Given the description of an element on the screen output the (x, y) to click on. 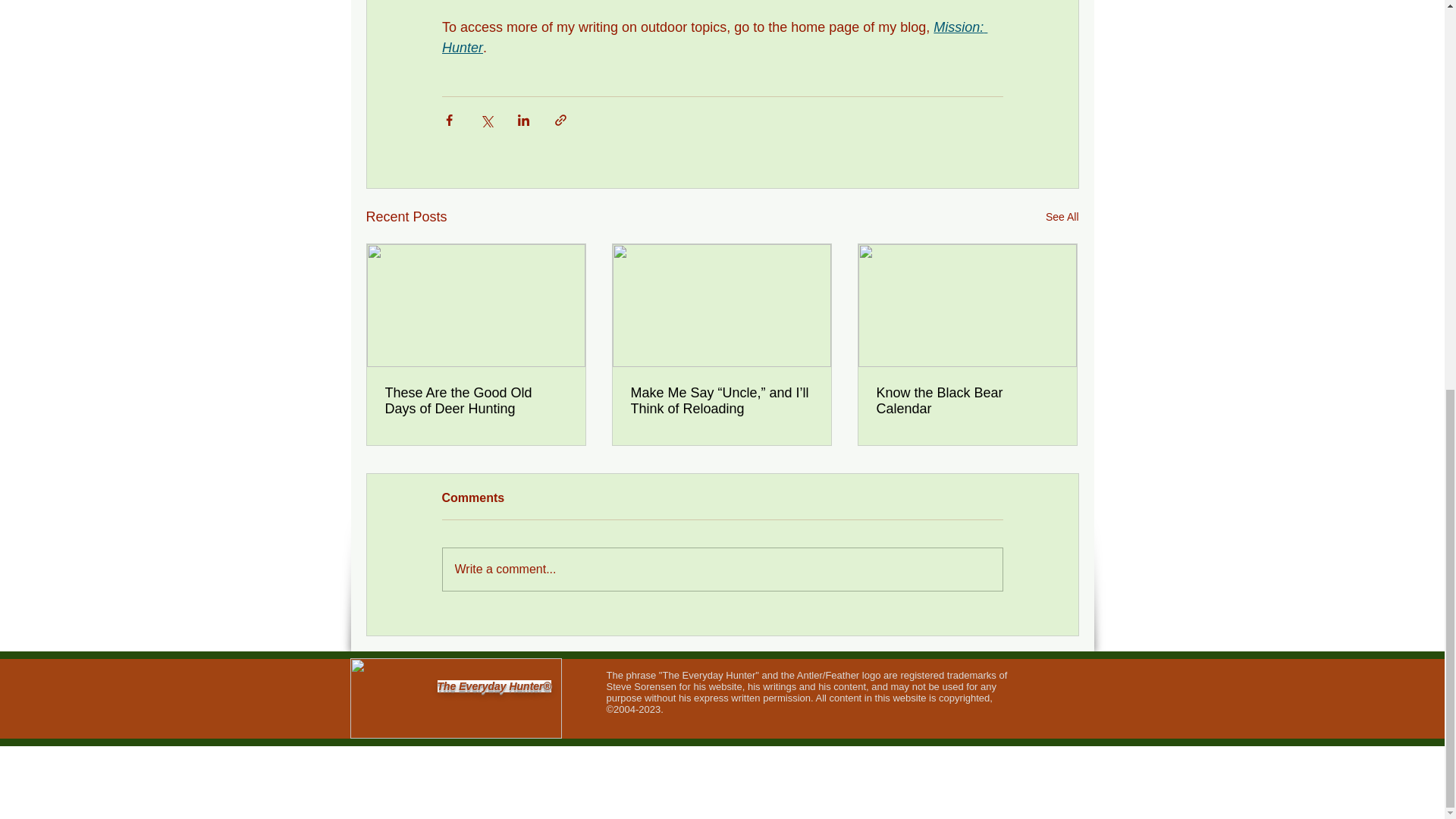
Mission: Hunter (714, 37)
See All (1061, 217)
These Are the Good Old Days of Deer Hunting (476, 400)
Write a comment... (722, 568)
EHLogoColorWide-Small.jpg (456, 698)
Know the Black Bear Calendar (967, 400)
